Given the description of an element on the screen output the (x, y) to click on. 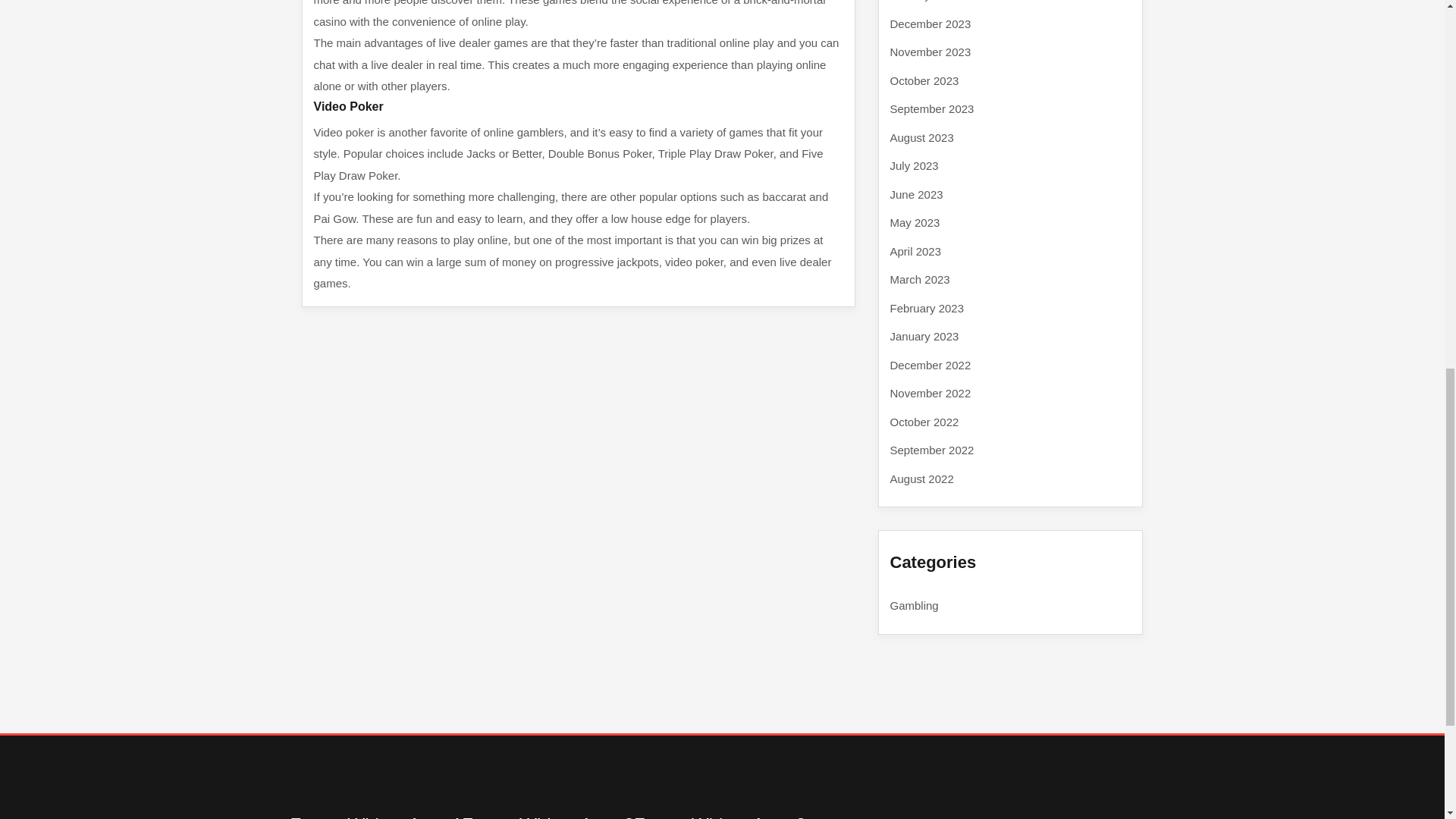
July 2023 (914, 164)
December 2023 (930, 22)
November 2022 (930, 392)
Gambling (914, 604)
January 2023 (924, 336)
August 2023 (921, 136)
October 2022 (924, 421)
January 2024 (924, 0)
May 2023 (914, 222)
April 2023 (915, 250)
June 2023 (916, 194)
October 2023 (924, 80)
December 2022 (930, 364)
February 2023 (926, 308)
September 2023 (931, 108)
